Given the description of an element on the screen output the (x, y) to click on. 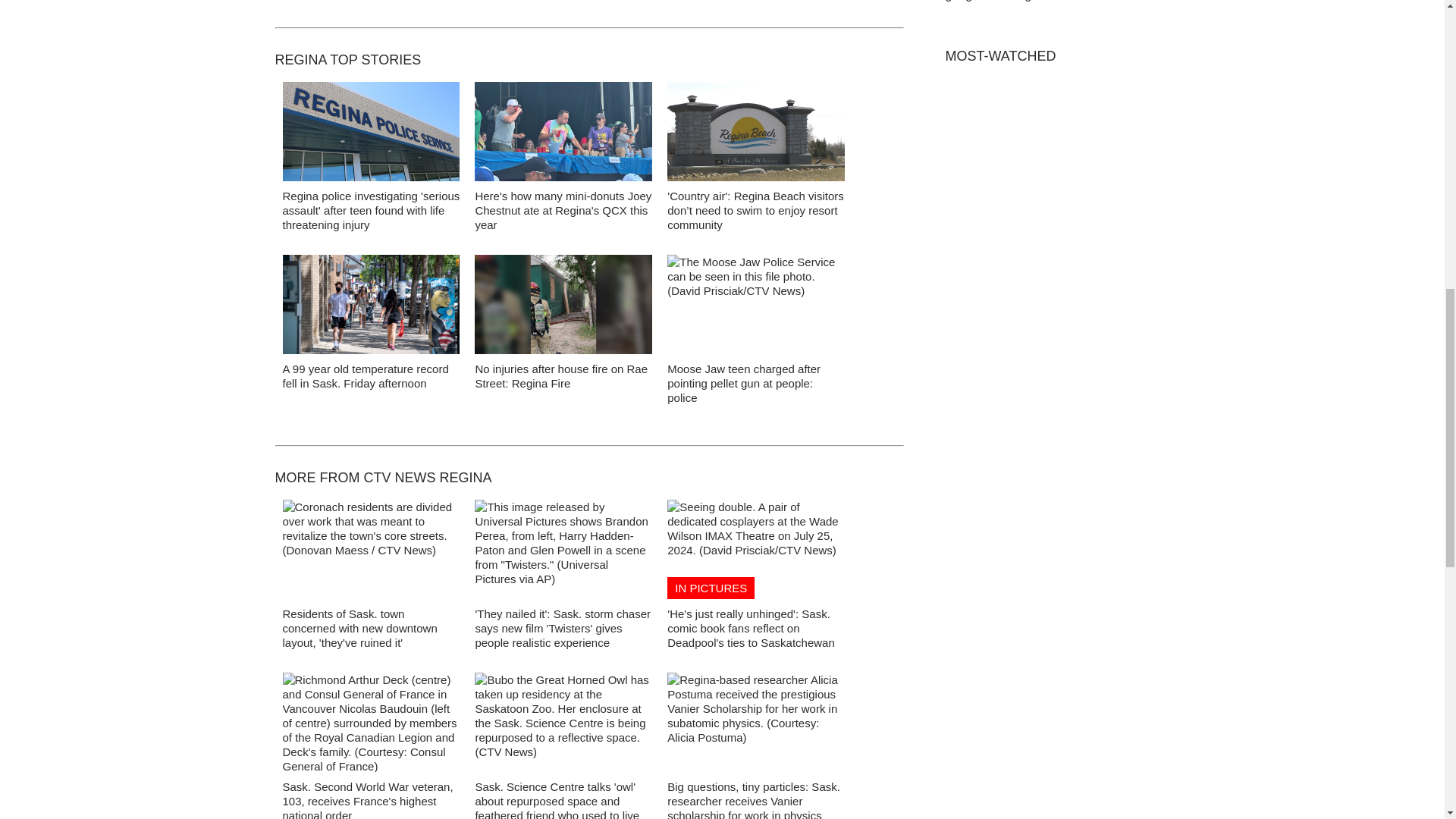
Alicia Postuma (755, 722)
No injuries after house fire on Rae Street: Regina Fire (560, 375)
Twisters movie release (563, 549)
Richmond Arthur Deck (371, 722)
Joey Chestnut QCX 2024 (563, 130)
Regina police (371, 131)
Coronach Sask. (371, 549)
Moose Jaw Police Service (755, 304)
Downtown Saskatoon (371, 304)
